Given the description of an element on the screen output the (x, y) to click on. 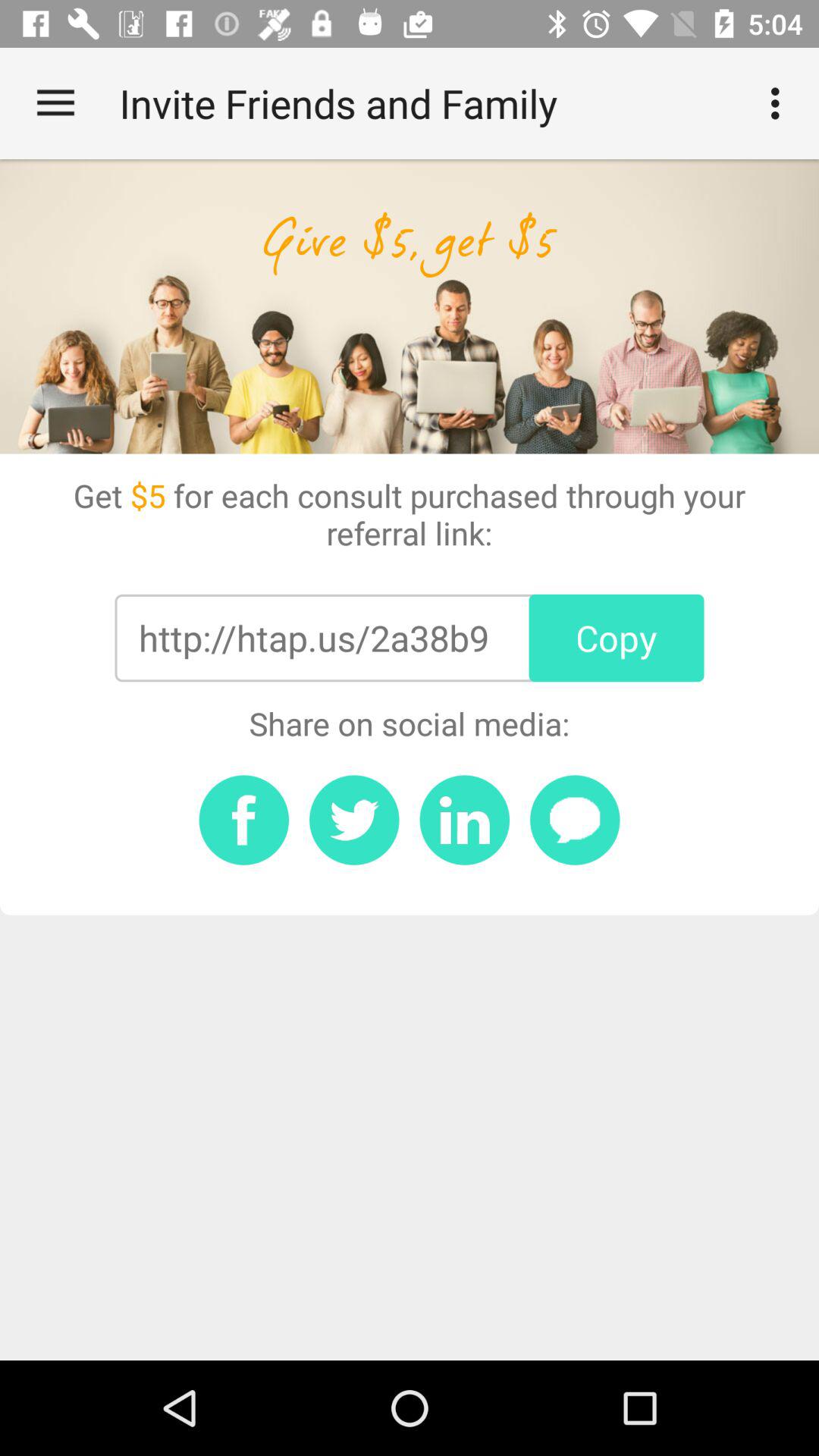
click icon next to copy item (313, 637)
